Given the description of an element on the screen output the (x, y) to click on. 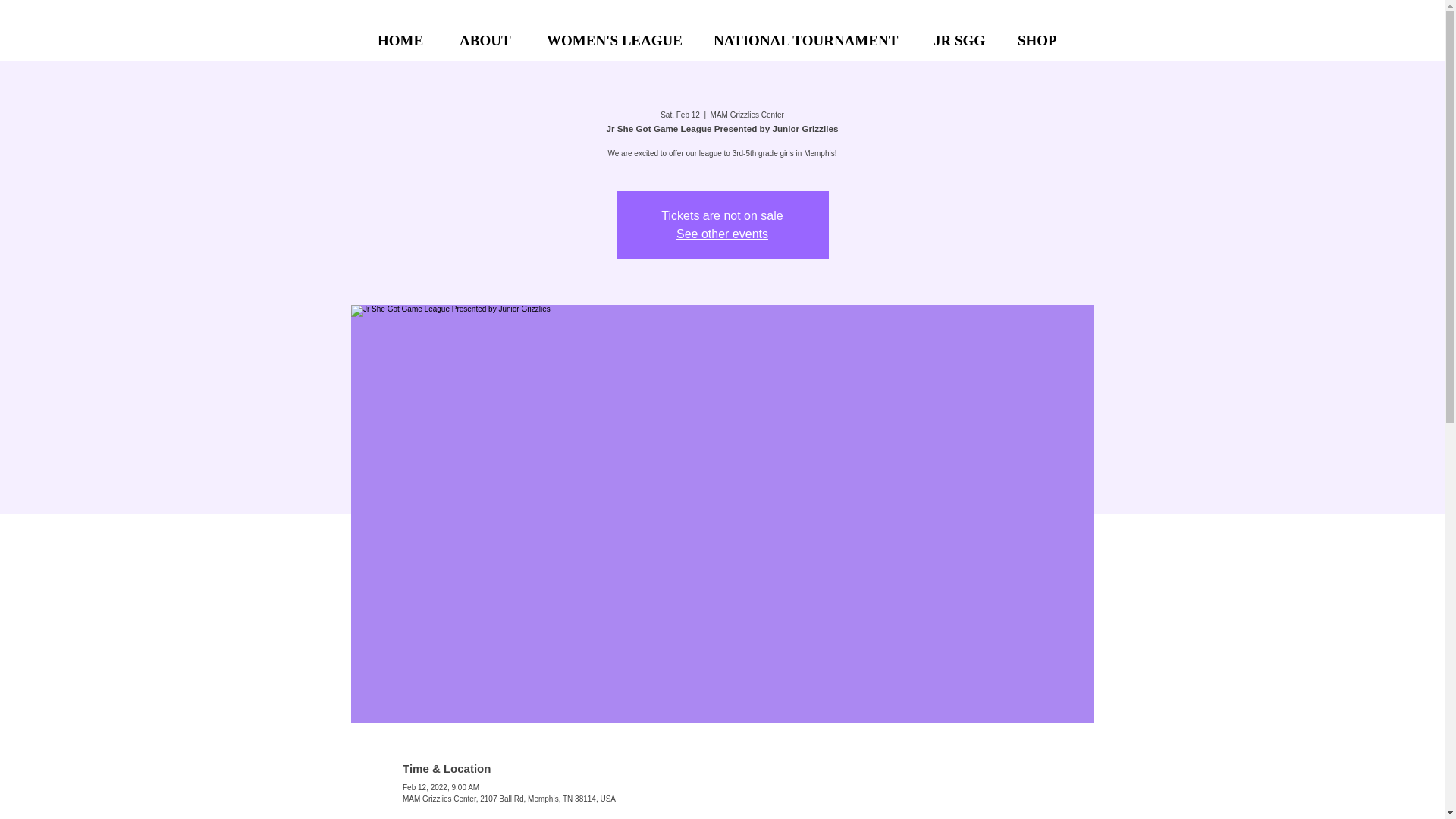
See other events (722, 233)
WOMEN'S LEAGUE (616, 34)
JR SGG (962, 34)
ABOUT (488, 34)
HOME (404, 34)
NATIONAL TOURNAMENT (810, 34)
SHOP (1042, 34)
